Given the description of an element on the screen output the (x, y) to click on. 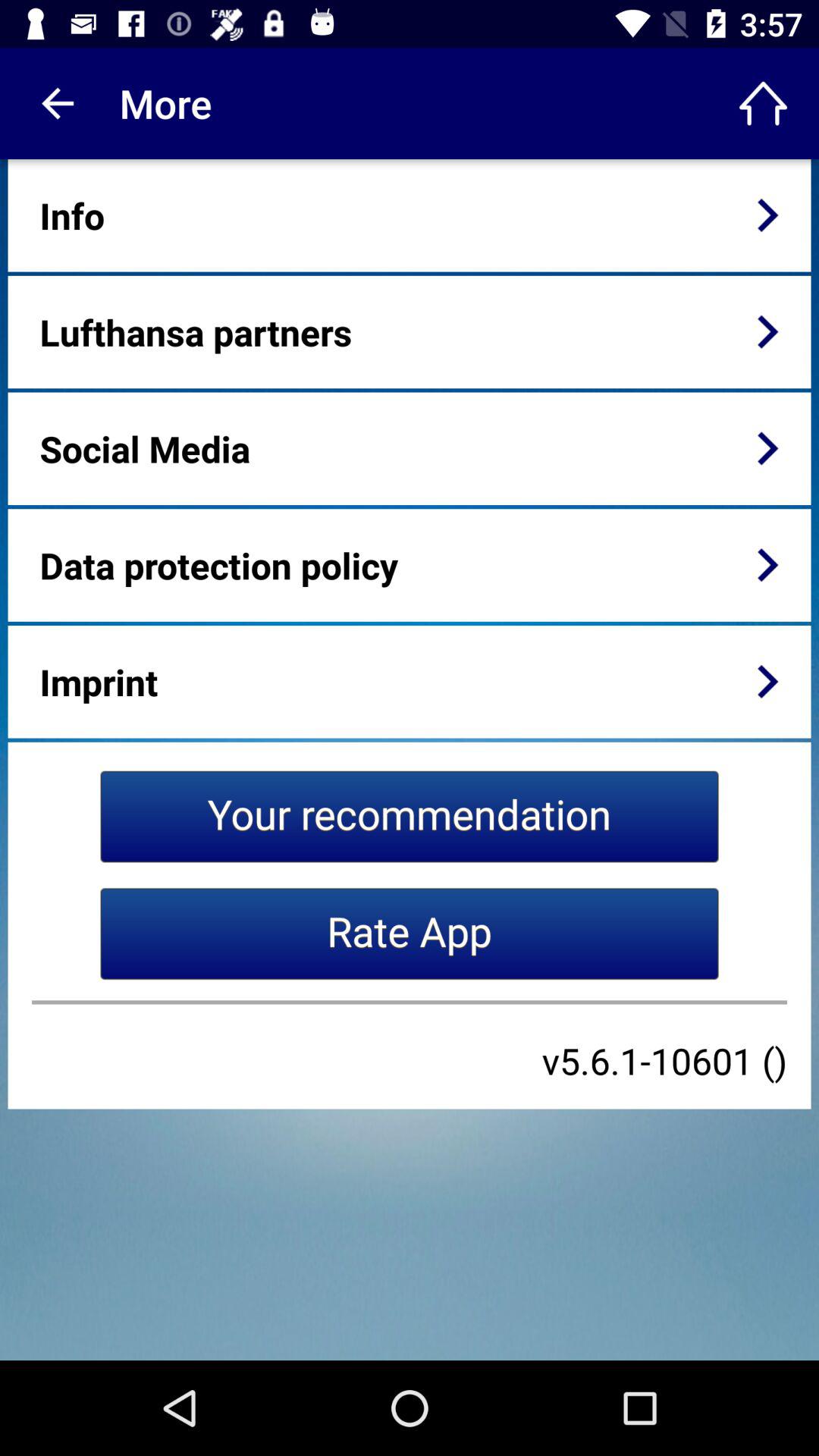
open the icon next to imprint icon (768, 681)
